Given the description of an element on the screen output the (x, y) to click on. 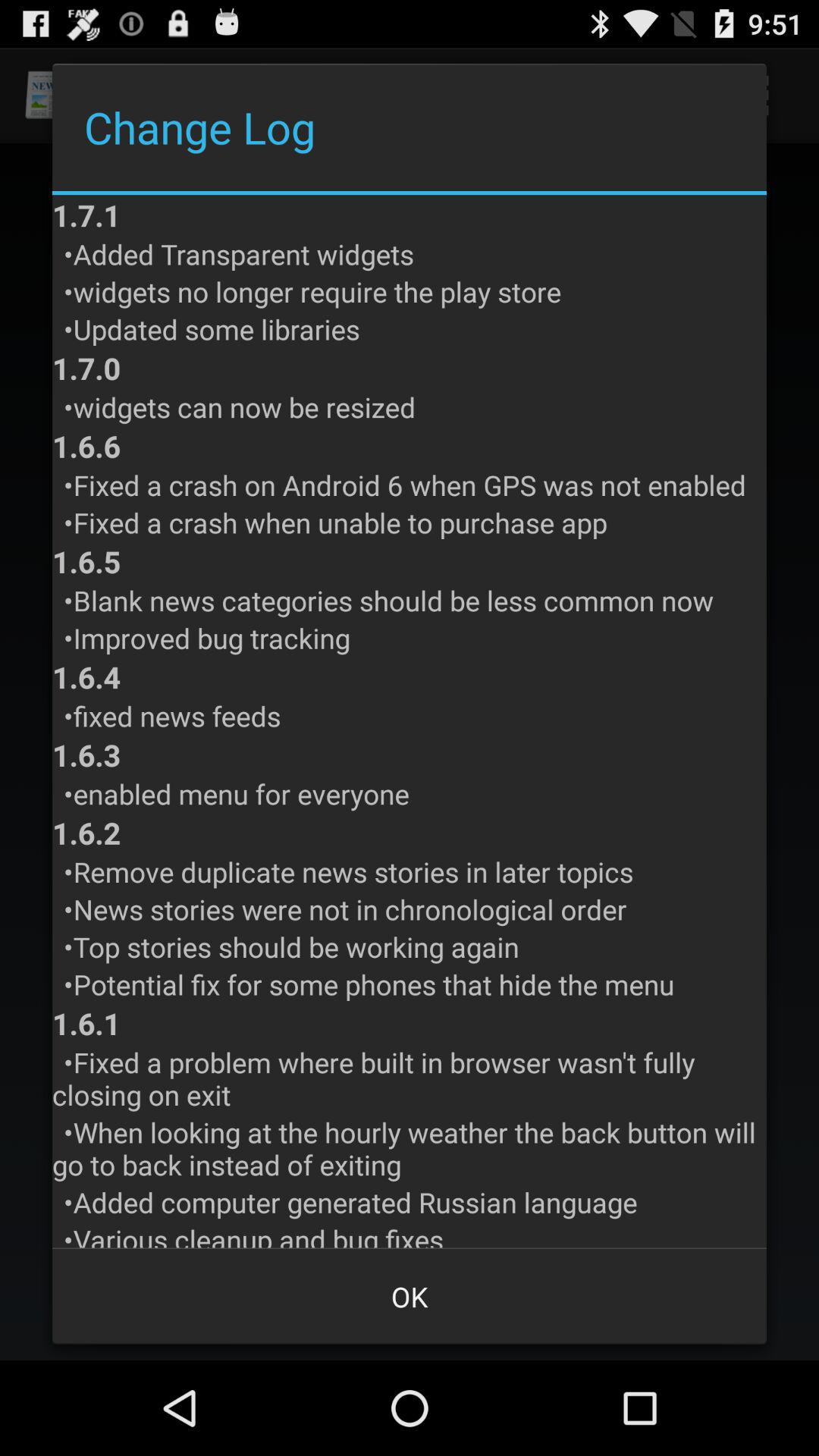
tap the item below various cleanup and item (409, 1296)
